Given the description of an element on the screen output the (x, y) to click on. 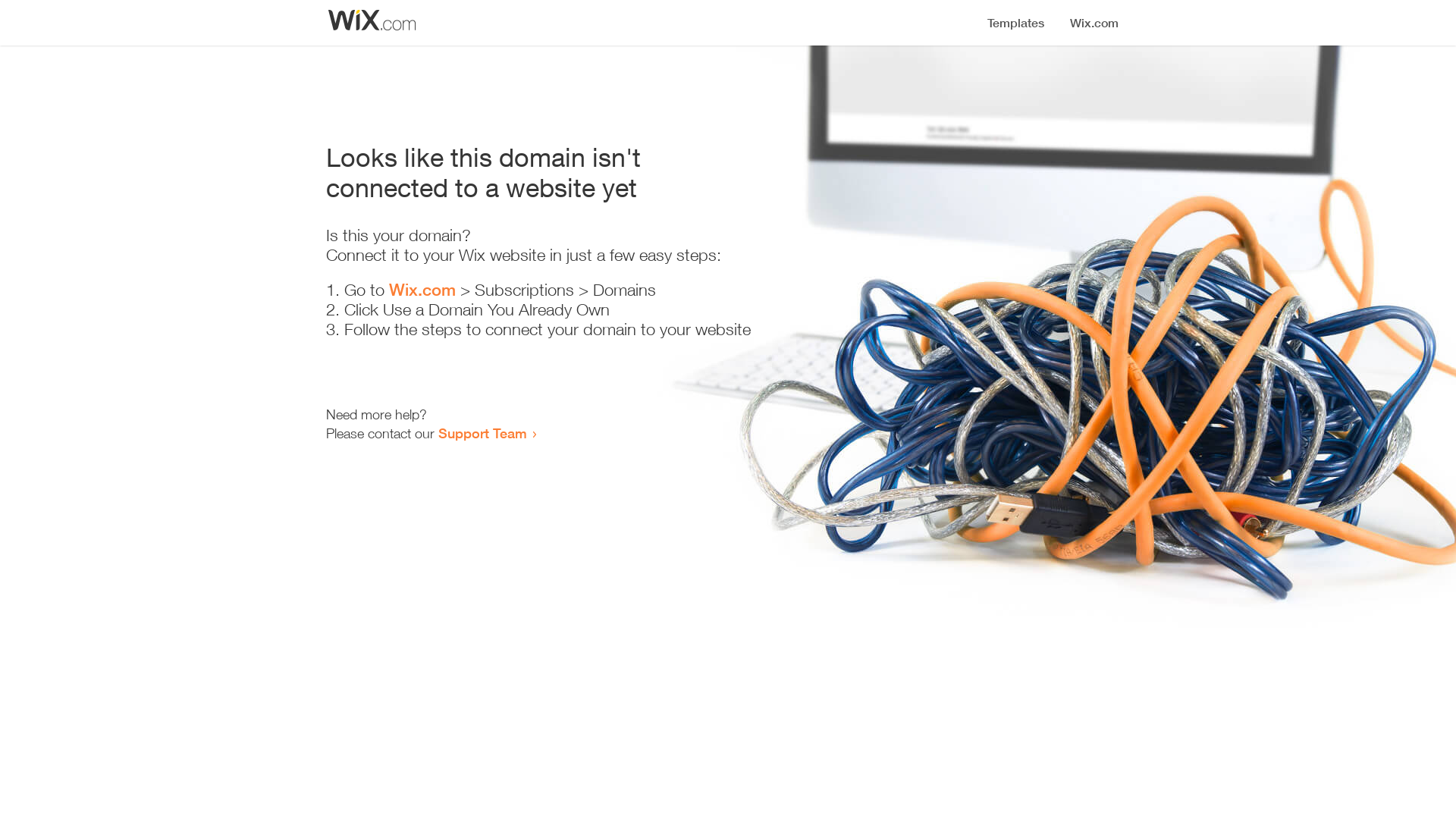
Support Team Element type: text (482, 432)
Wix.com Element type: text (422, 289)
